Given the description of an element on the screen output the (x, y) to click on. 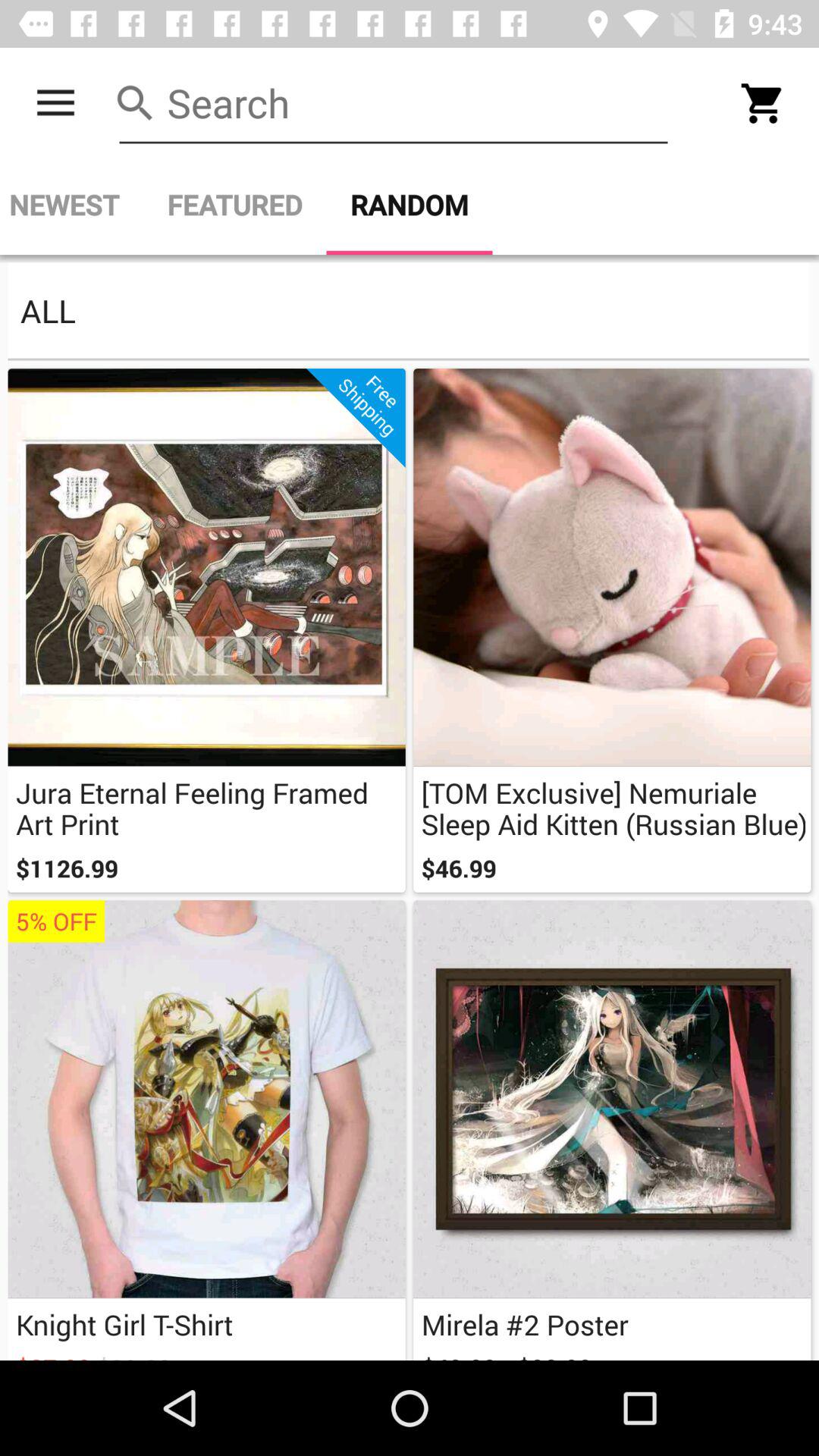
click icon to the right of newest icon (234, 204)
